Given the description of an element on the screen output the (x, y) to click on. 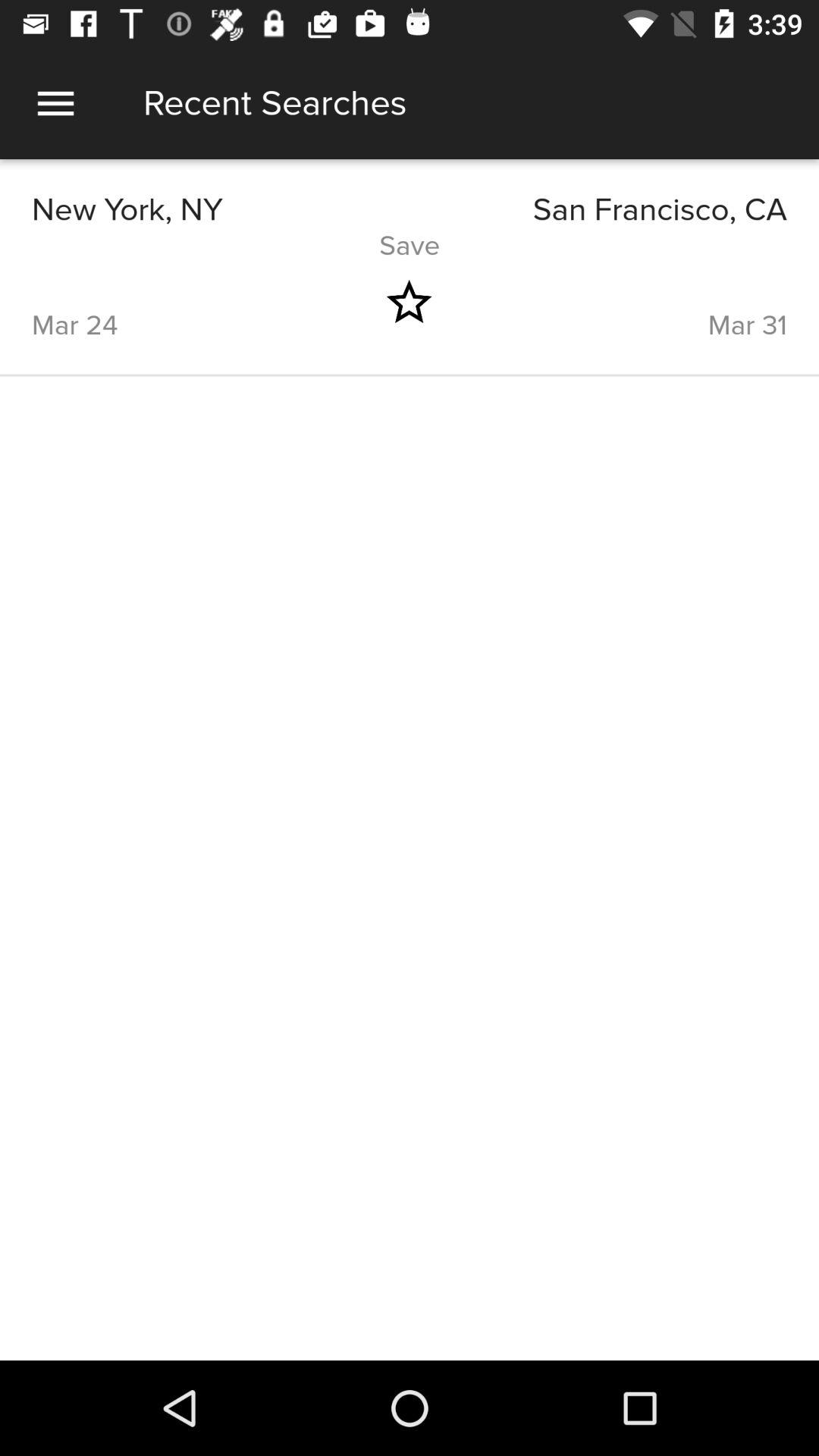
launch icon below save item (182, 302)
